Given the description of an element on the screen output the (x, y) to click on. 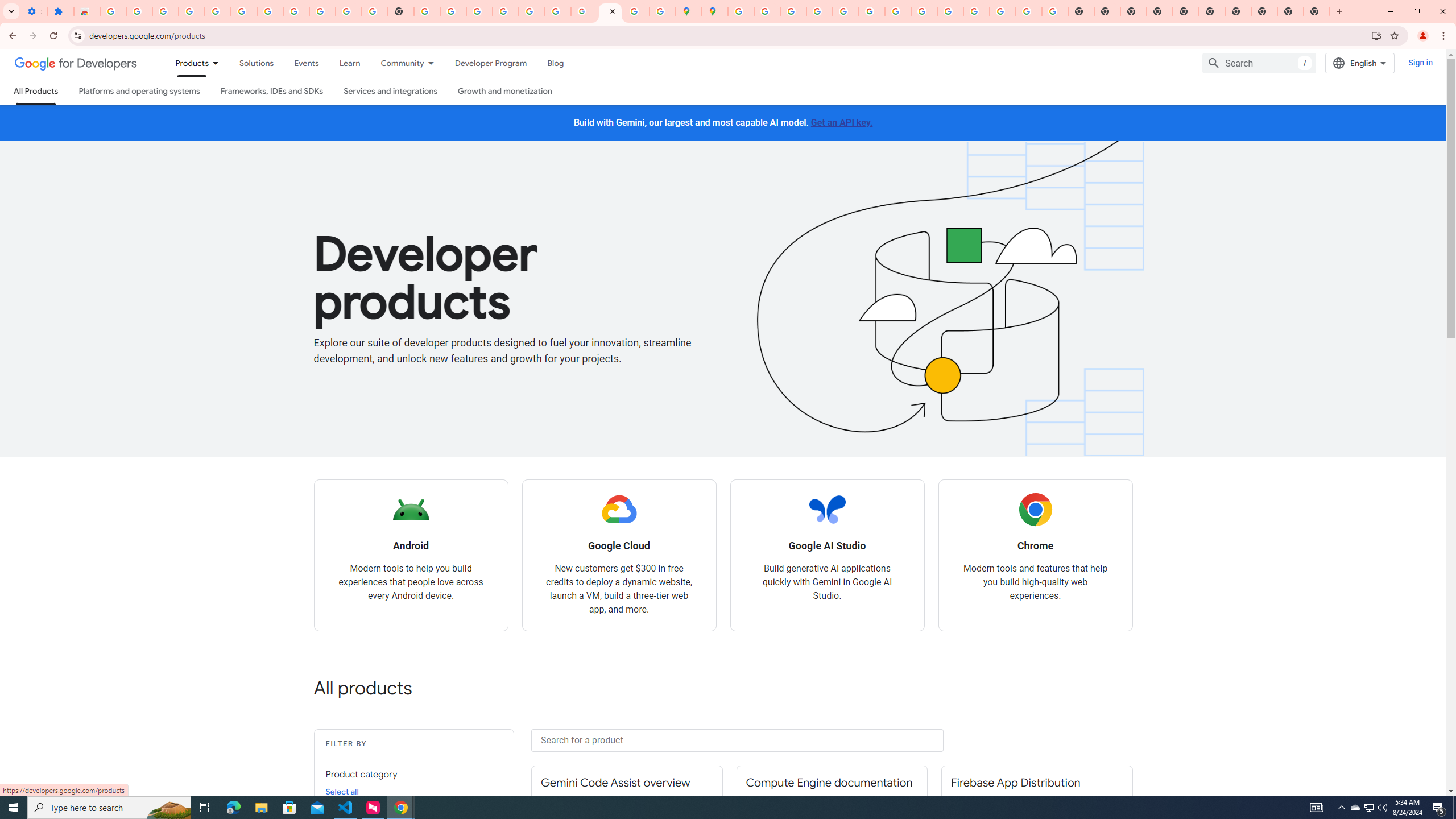
Dropdown menu for Community (433, 62)
All Products, selected (35, 90)
Sign in - Google Accounts (112, 11)
Developer Program (490, 62)
Privacy Help Center - Policies Help (792, 11)
Reviews: Helix Fruit Jump Arcade Game (86, 11)
Learn how to find your photos - Google Photos Help (217, 11)
Privacy Help Center - Policies Help (818, 11)
Search for a product (737, 739)
